Given the description of an element on the screen output the (x, y) to click on. 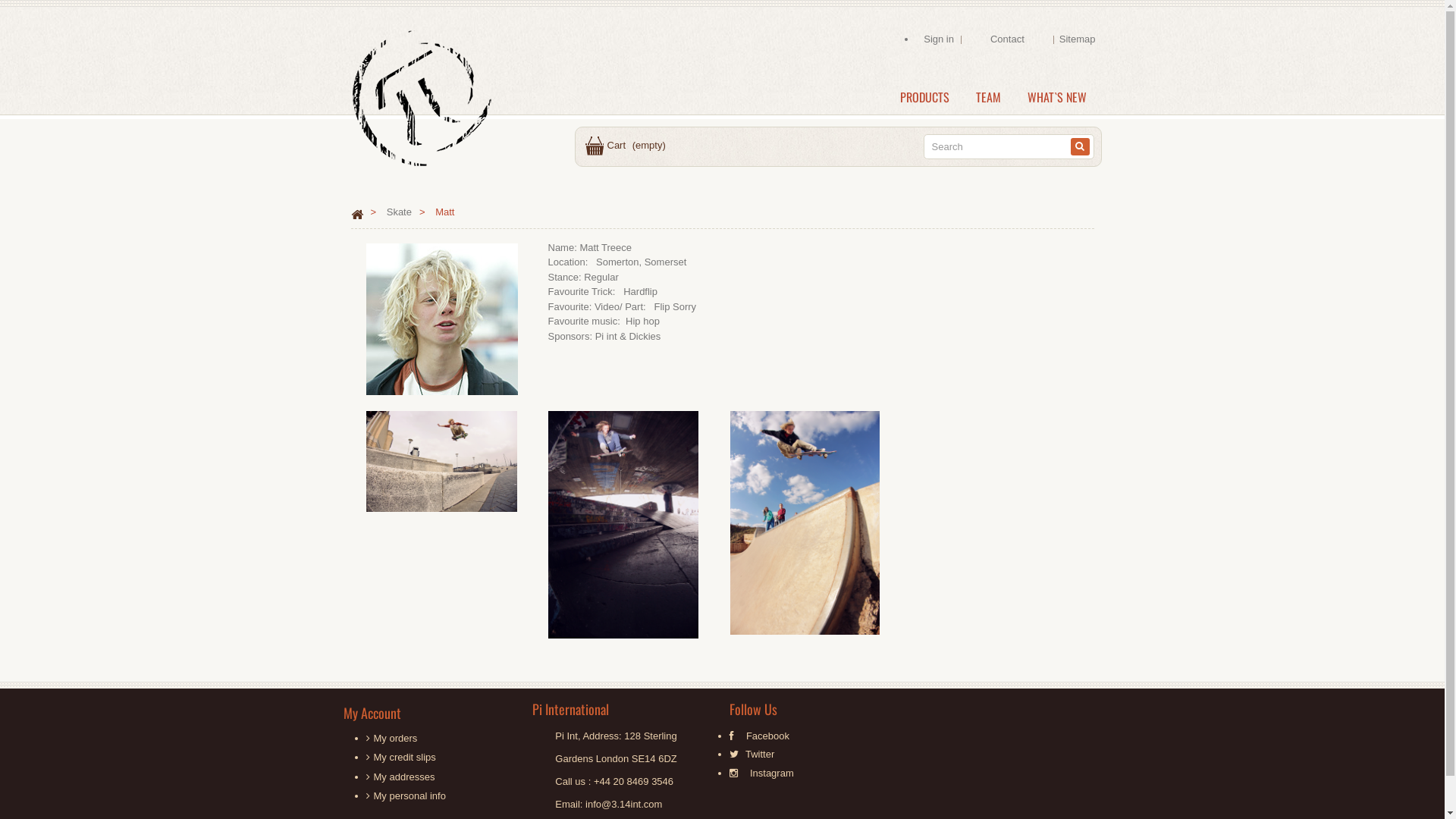
info@3.14int.com Element type: text (623, 803)
My Account Element type: text (371, 712)
Return to Home Element type: hover (356, 212)
Sitemap Element type: text (1077, 38)
WHAT`S NEW Element type: text (1057, 96)
TEAM Element type: text (988, 96)
3.14 International Element type: hover (418, 95)
My personal info Element type: text (409, 795)
Twitter Element type: text (759, 754)
My credit slips Element type: text (404, 756)
Facebook Element type: text (767, 735)
Instagram Element type: text (771, 773)
Cart (empty) Element type: text (622, 145)
Skate Element type: text (398, 211)
Contact Element type: text (1007, 38)
My addresses Element type: text (403, 776)
My orders Element type: text (395, 737)
Sign in Element type: text (938, 39)
PRODUCTS Element type: text (924, 96)
